Given the description of an element on the screen output the (x, y) to click on. 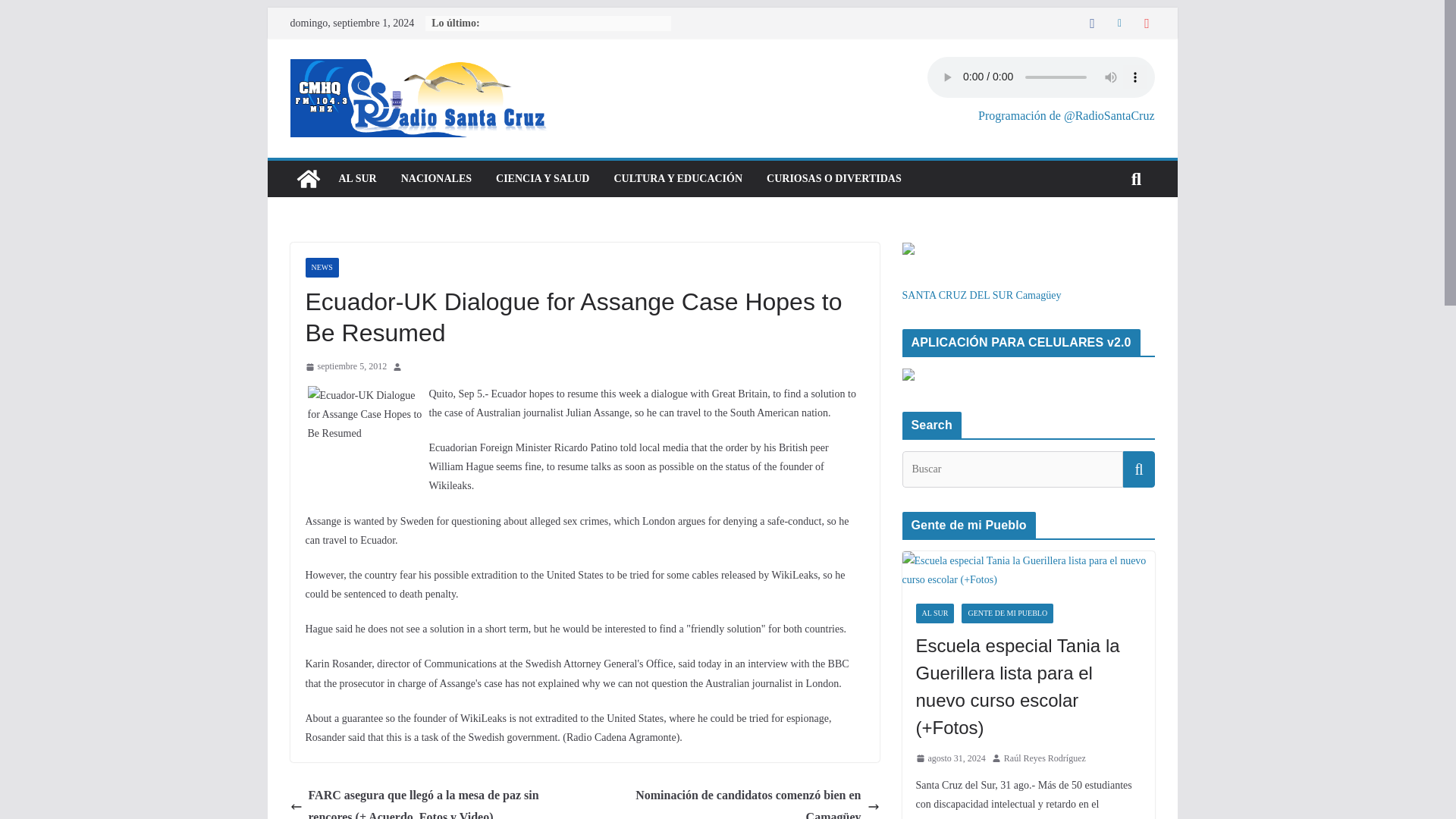
Radio Santa Cruz (307, 178)
NEWS (320, 267)
CIENCIA Y SALUD (542, 178)
12:00 am (345, 366)
NACIONALES (436, 178)
AL SUR (356, 178)
AL SUR (935, 613)
septiembre 5, 2012 (345, 366)
GENTE DE MI PUEBLO (1006, 613)
